Given the description of an element on the screen output the (x, y) to click on. 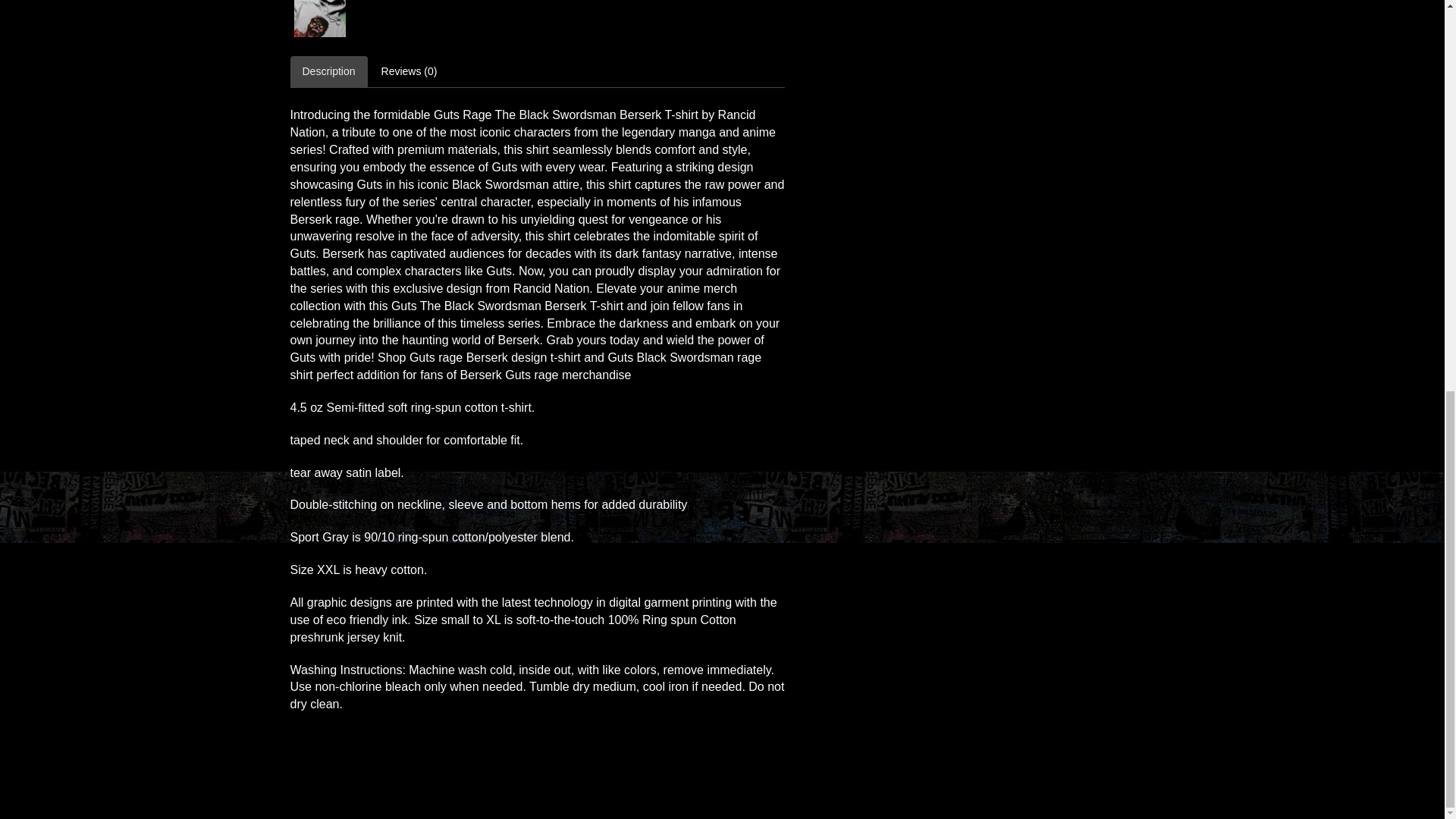
GUTS Berserk rage tee: The Black Swordsman (320, 18)
GUTS Berserk rage tee: The Black Swordsman (319, 20)
